Given the description of an element on the screen output the (x, y) to click on. 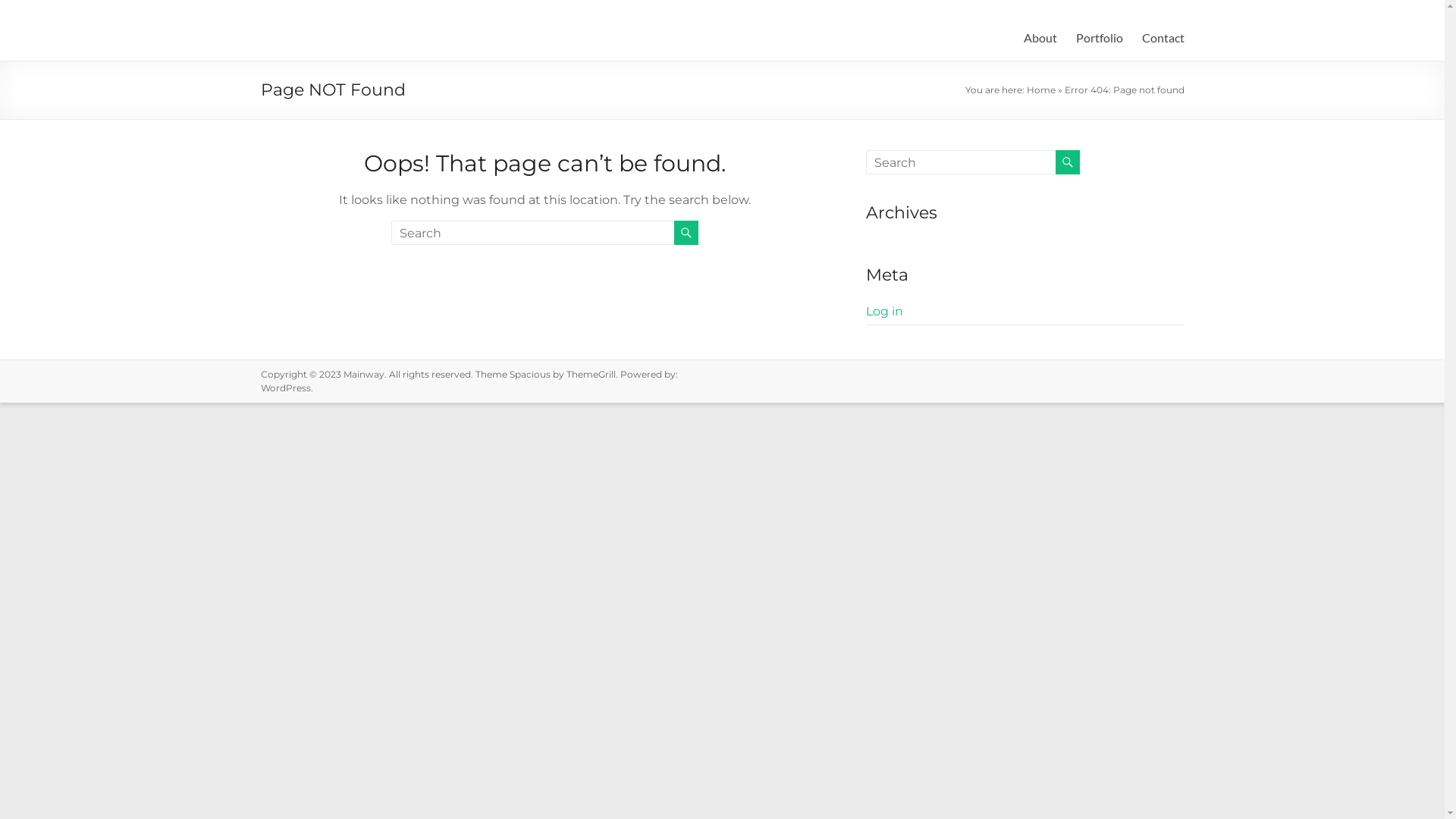
Home Element type: text (1040, 89)
About Element type: text (1040, 37)
Mainway Element type: text (362, 373)
Portfolio Element type: text (1098, 37)
Spacious Element type: text (529, 373)
Log in Element type: text (884, 311)
WordPress Element type: text (285, 387)
Contact Element type: text (1163, 37)
